Given the description of an element on the screen output the (x, y) to click on. 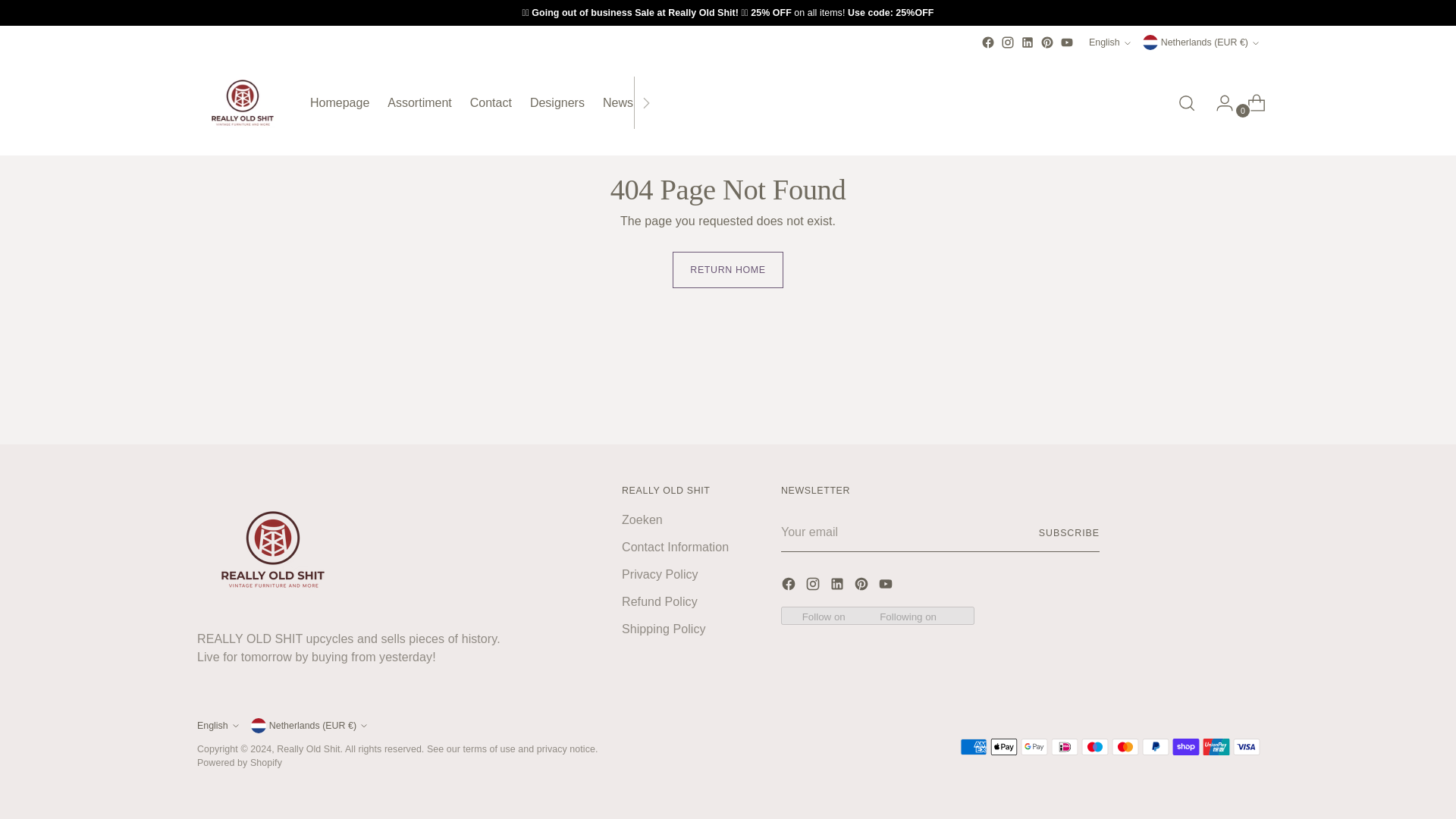
English (483, 102)
Really Old Shit on Pinterest (1110, 41)
Really Old Shit on Facebook (862, 586)
Really Old Shit on Pinterest (987, 42)
Really Old Shit on YouTube (1047, 42)
Really Old Shit on LinkedIn (1066, 42)
Really Old Shit on Instagram (1026, 42)
Really Old Shit on Instagram (1007, 42)
